Given the description of an element on the screen output the (x, y) to click on. 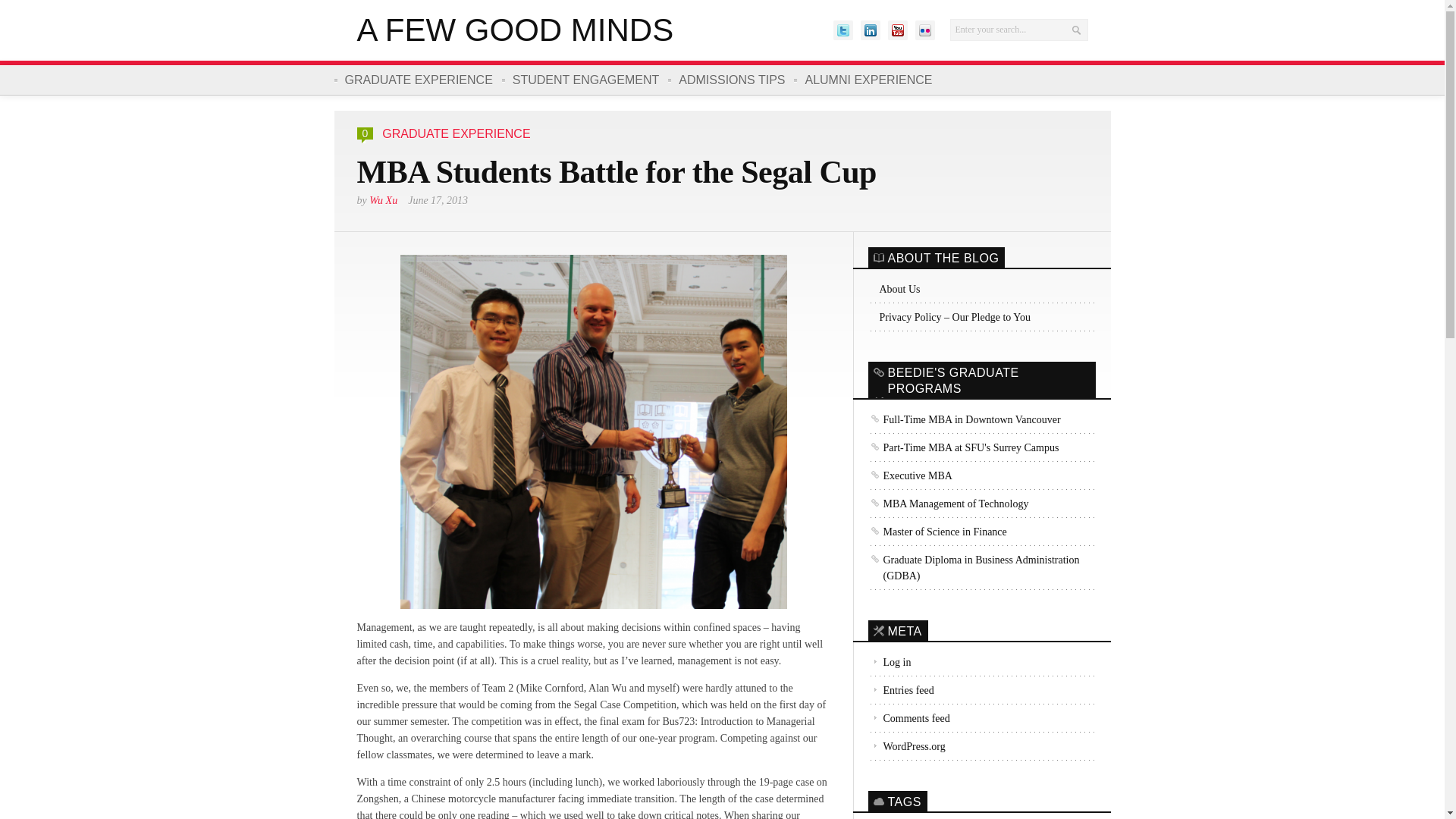
Full-Time MBA in Downtown Vancouver (963, 418)
GRADUATE EXPERIENCE (416, 80)
ADMISSIONS TIPS (730, 80)
0 (365, 133)
Part-Time MBA at SFU's Surrey Campus (962, 447)
Comments feed (908, 717)
ALUMNI EXPERIENCE (866, 80)
Executive MBA (909, 474)
Enter your search... (1018, 29)
Master of Science in Finance (936, 530)
A FEW GOOD MINDS (514, 30)
Log in (889, 661)
STUDENT ENGAGEMENT (585, 80)
About Us (980, 288)
